Given the description of an element on the screen output the (x, y) to click on. 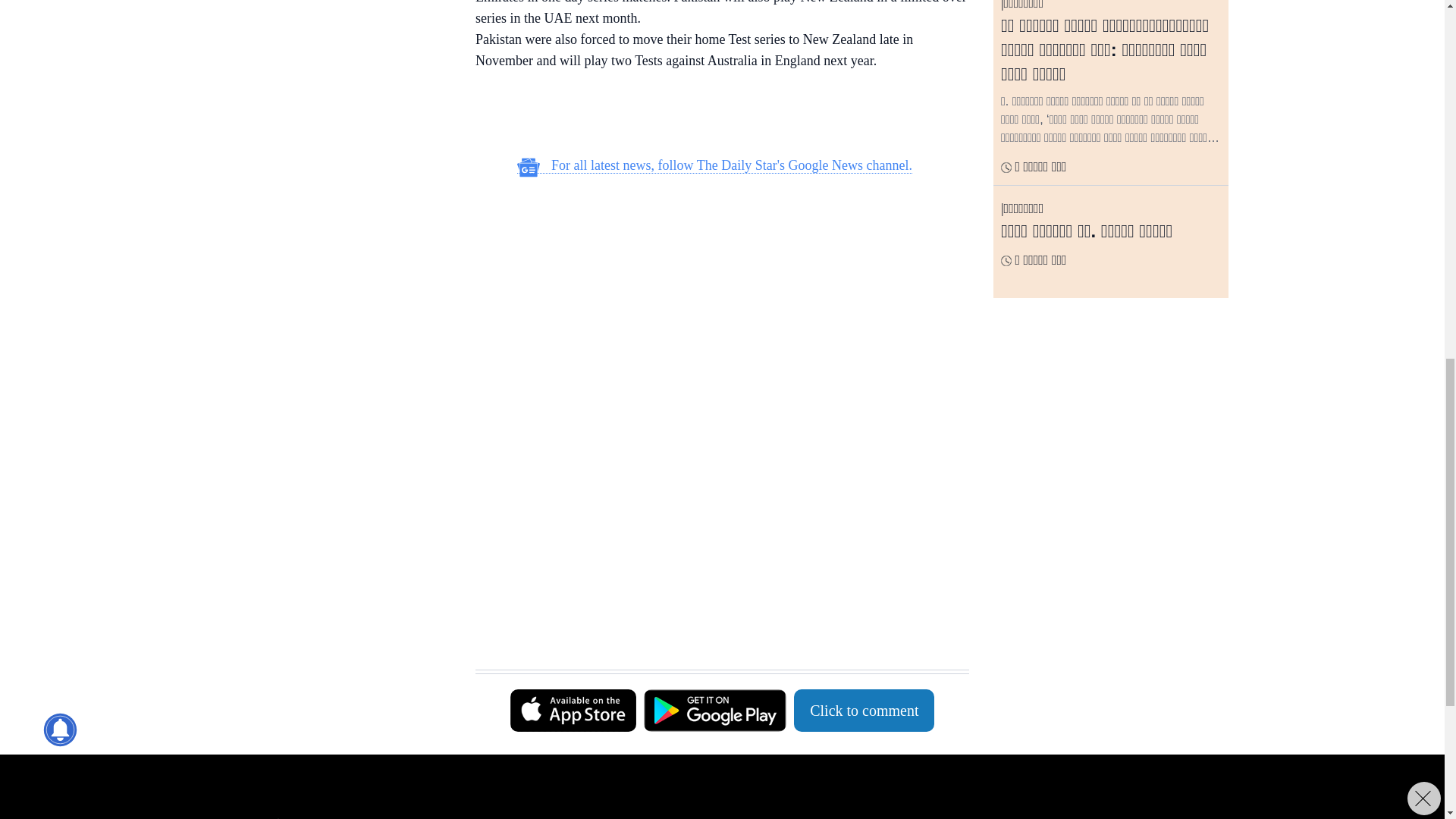
3rd party ad content (332, 5)
3rd party ad content (714, 631)
3rd party ad content (713, 491)
3rd party ad content (713, 286)
3rd party ad content (332, 121)
3rd party ad content (714, 115)
